Given the description of an element on the screen output the (x, y) to click on. 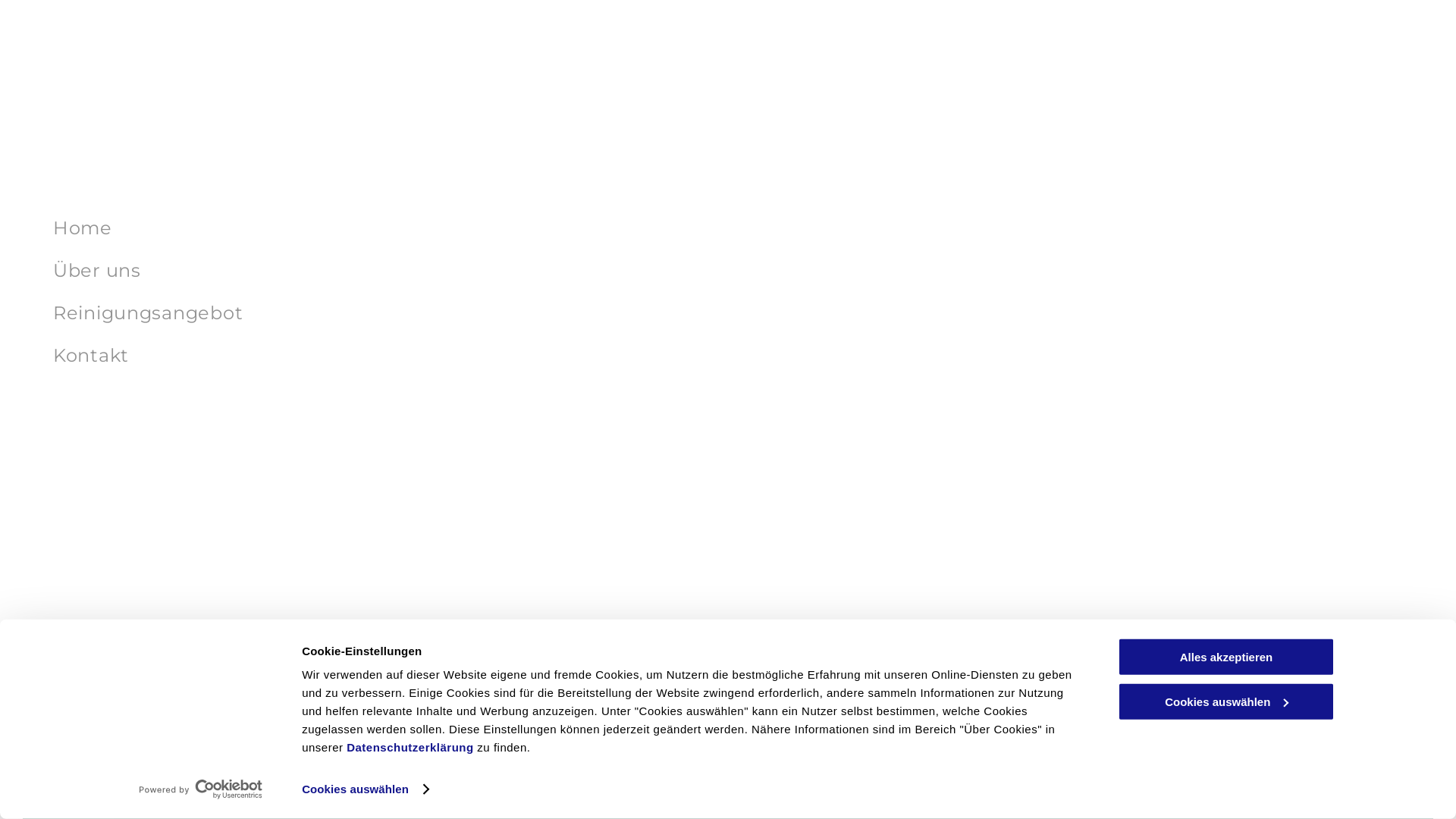
Kontakt Element type: text (409, 355)
BINGO EXPRESS REINIGUNG Element type: text (142, 769)
BINGO EXPRESS REINIGUNG Element type: text (161, 705)
Alles akzeptieren Element type: text (1225, 656)
Reinigungsangebot Element type: text (409, 312)
Home Element type: text (409, 228)
